Given the description of an element on the screen output the (x, y) to click on. 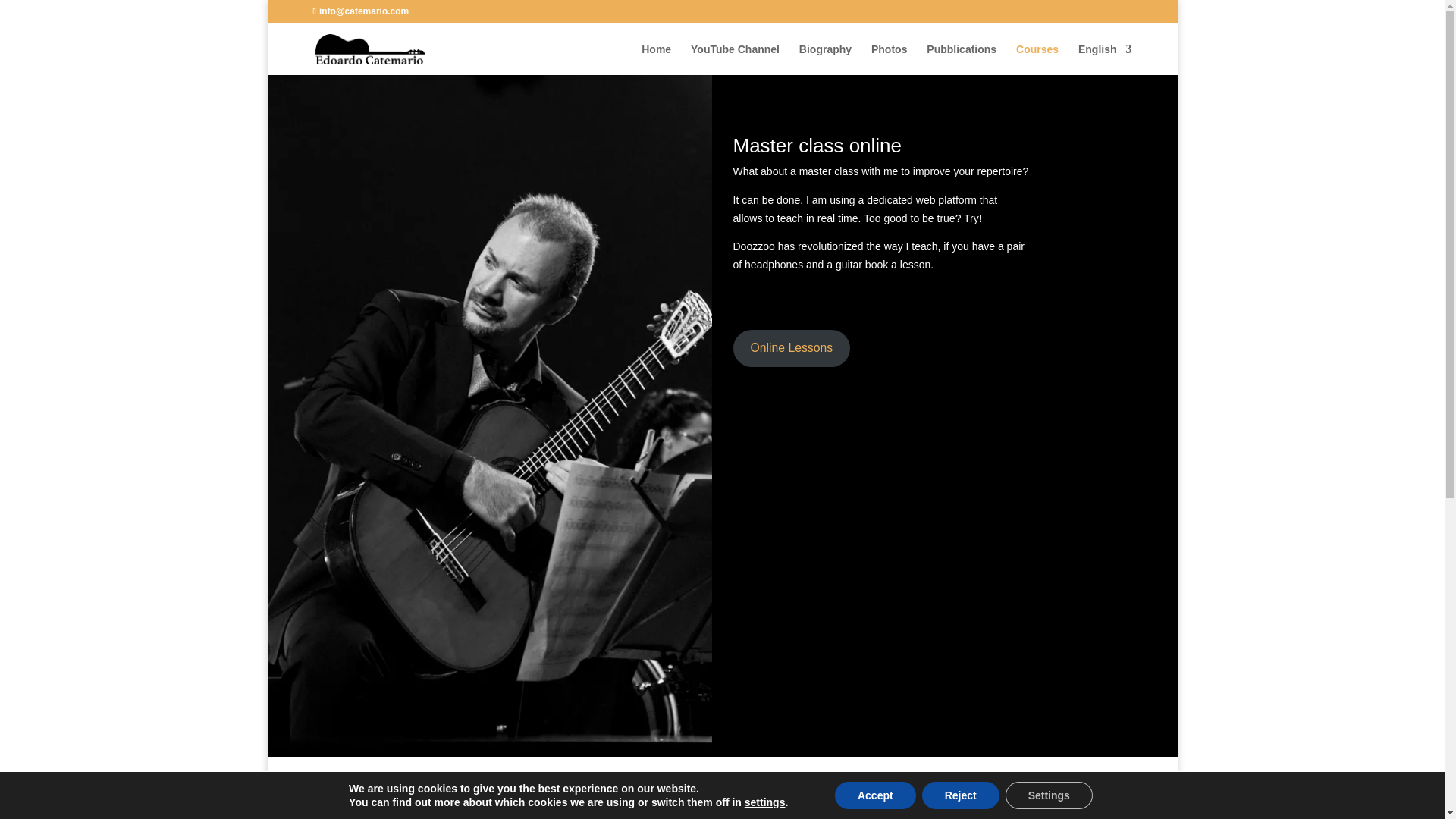
Home (656, 59)
English (1105, 59)
Photos (888, 59)
Courses (1037, 59)
Biography (825, 59)
Online Lessons (791, 348)
English (1105, 59)
YouTube Channel (734, 59)
Pubblications (960, 59)
